Given the description of an element on the screen output the (x, y) to click on. 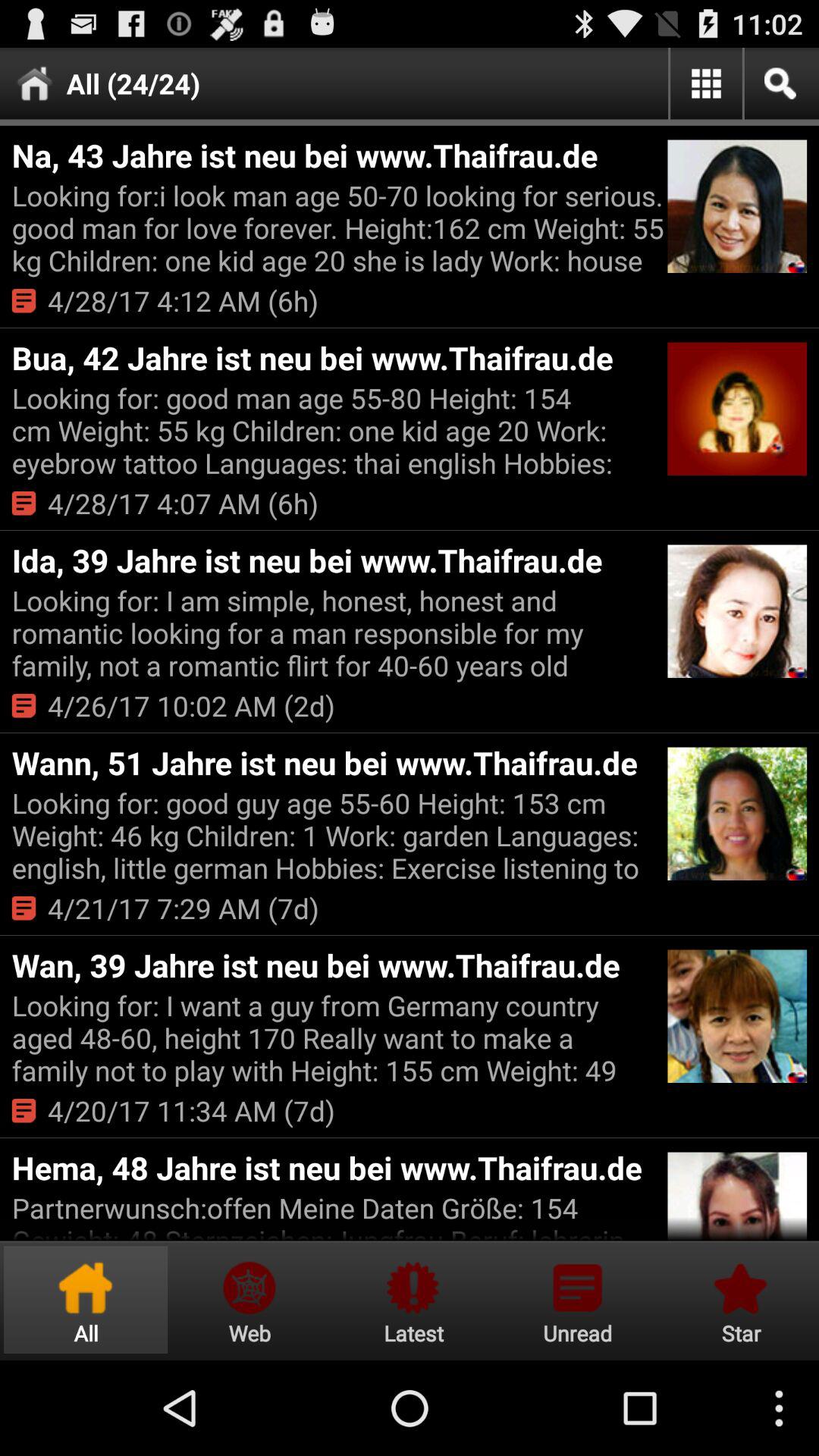
turn on icon below the partnerwunsch offen meine (249, 1299)
